Given the description of an element on the screen output the (x, y) to click on. 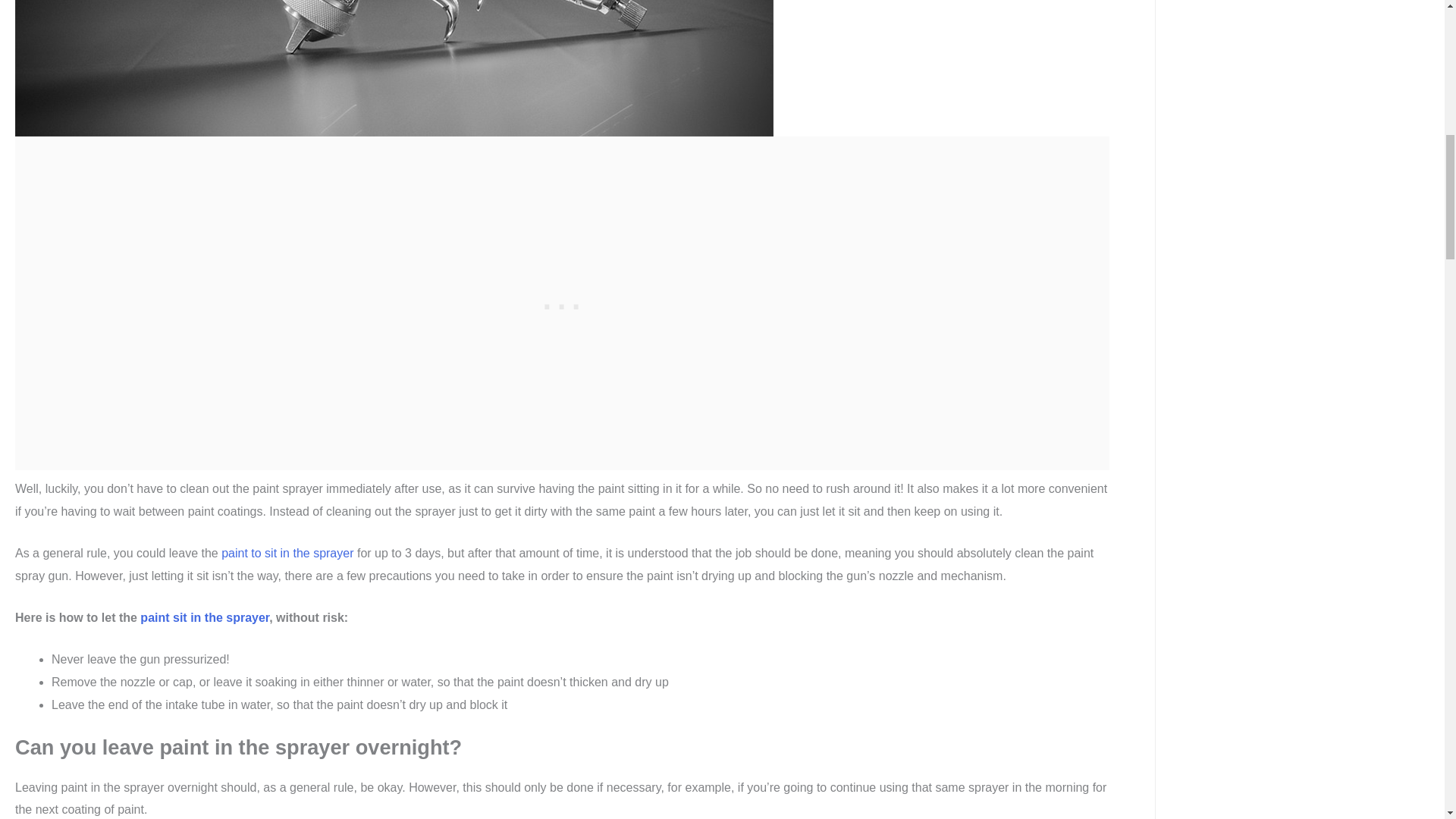
paint sit in the sprayer (204, 617)
paint to sit in the sprayer (287, 553)
